Given the description of an element on the screen output the (x, y) to click on. 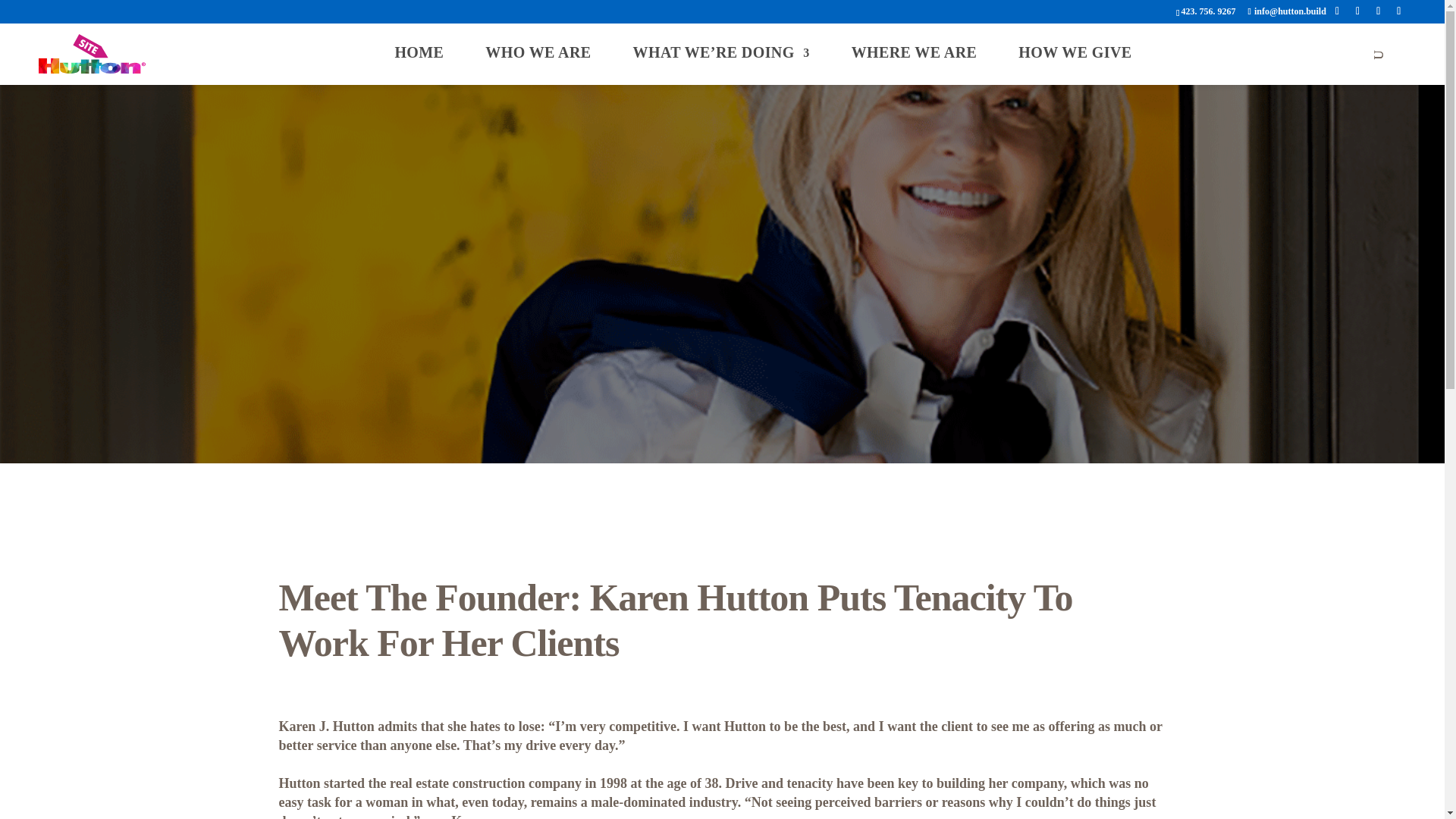
HOW WE GIVE (1074, 52)
HOME (419, 52)
WHERE WE ARE (913, 52)
WHO WE ARE (537, 52)
